Given the description of an element on the screen output the (x, y) to click on. 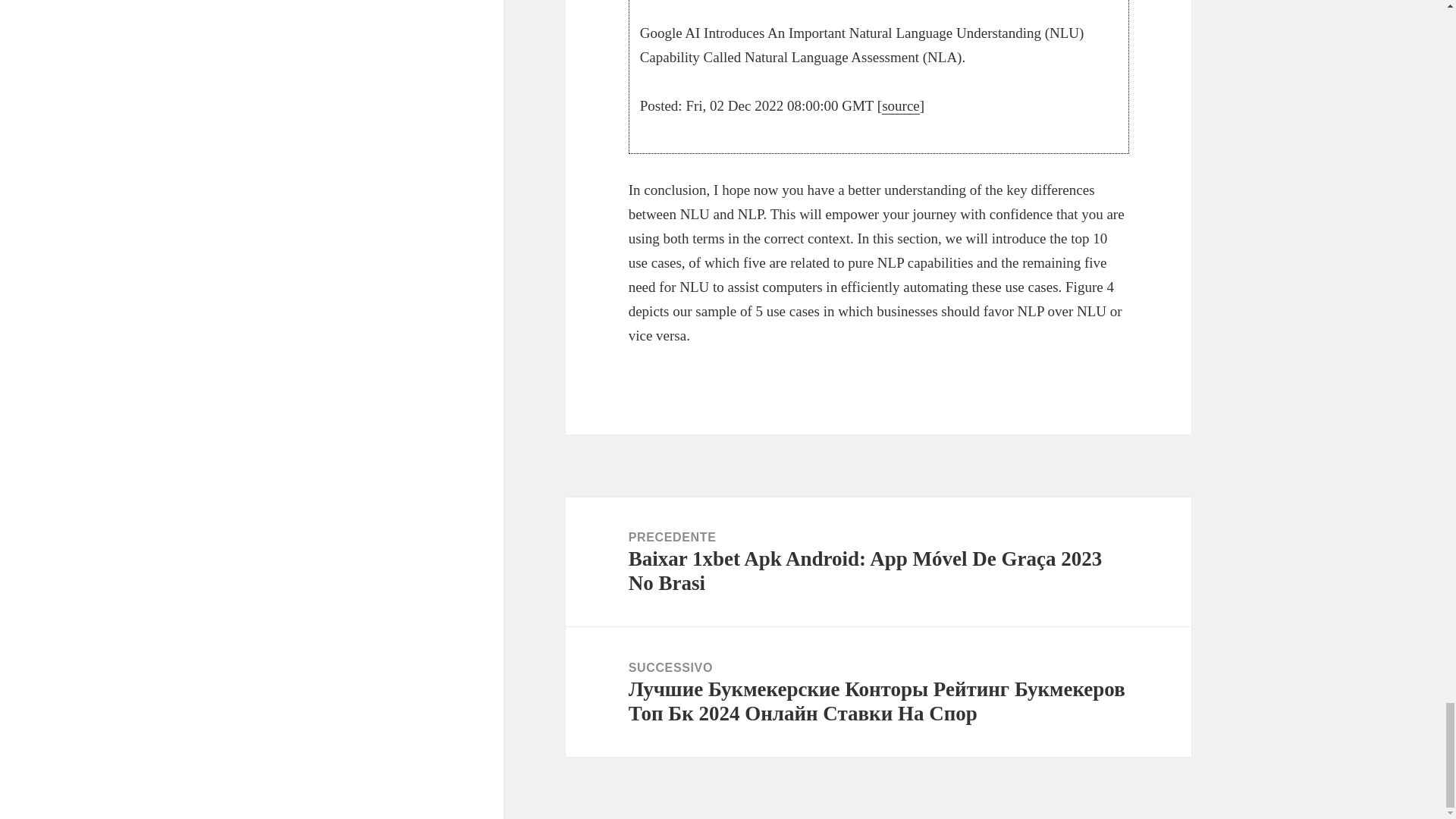
source (901, 105)
